Given the description of an element on the screen output the (x, y) to click on. 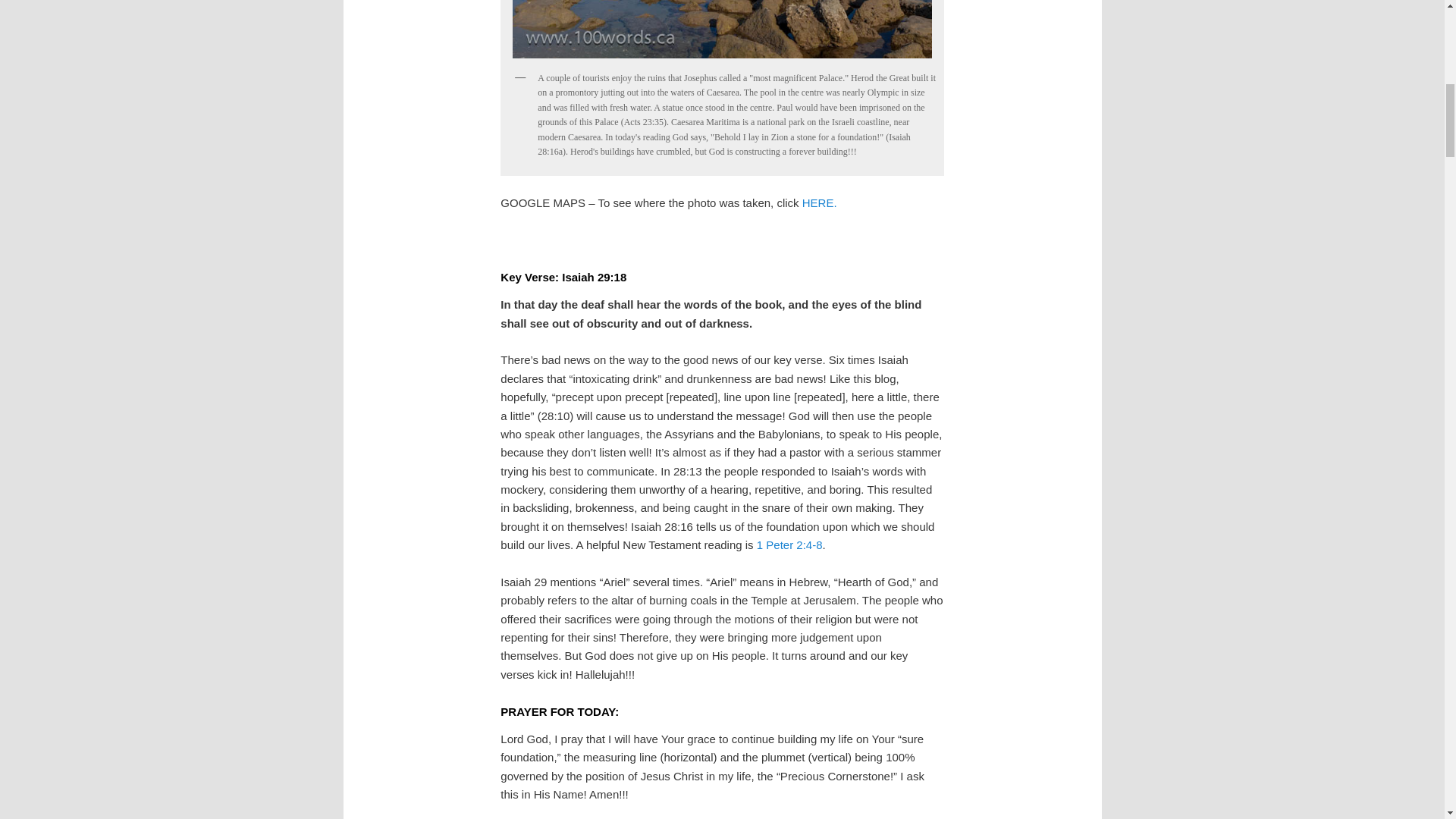
1 Peter 2:4-8 (789, 544)
January 2, 2014 (721, 31)
HERE. (819, 202)
